Given the description of an element on the screen output the (x, y) to click on. 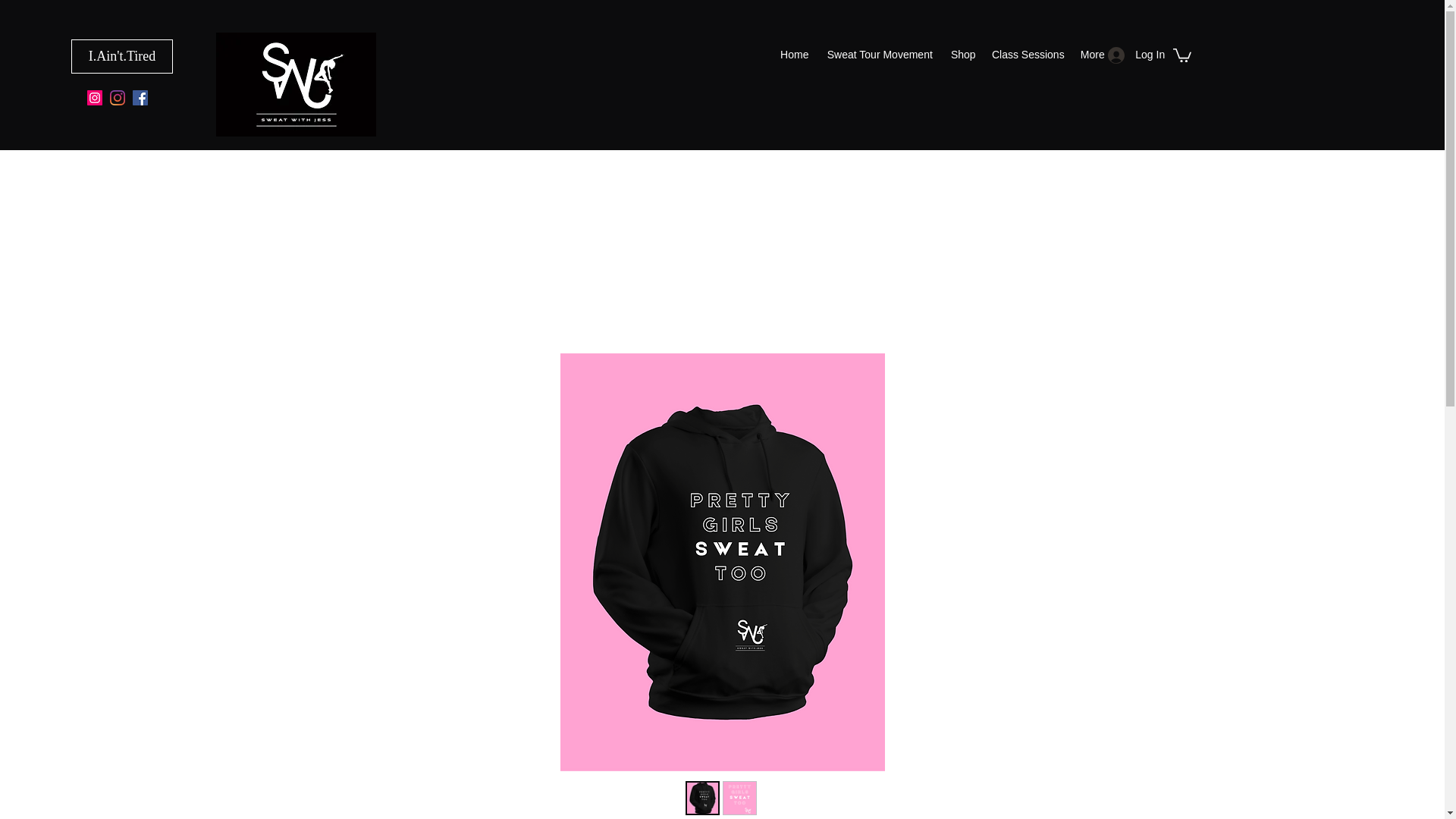
Class Sessions (1027, 54)
Log In (1131, 54)
Sweat Tour Movement (879, 54)
I.Ain't.Tired (122, 56)
Shop (963, 54)
Home (793, 54)
